Given the description of an element on the screen output the (x, y) to click on. 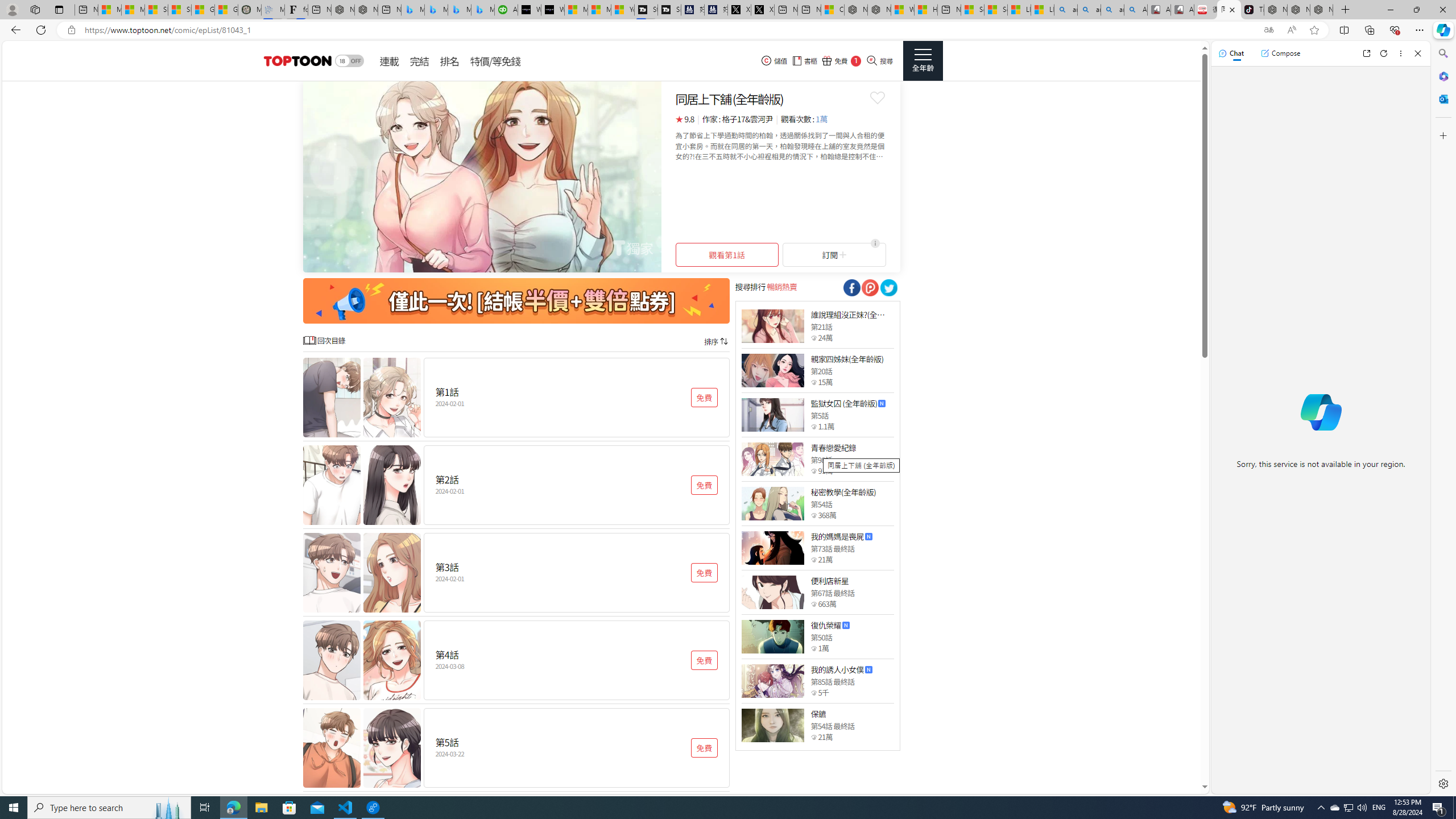
Show translate options (1268, 29)
Amazon Echo Robot - Search Images (1135, 9)
Customize (1442, 135)
